Given the description of an element on the screen output the (x, y) to click on. 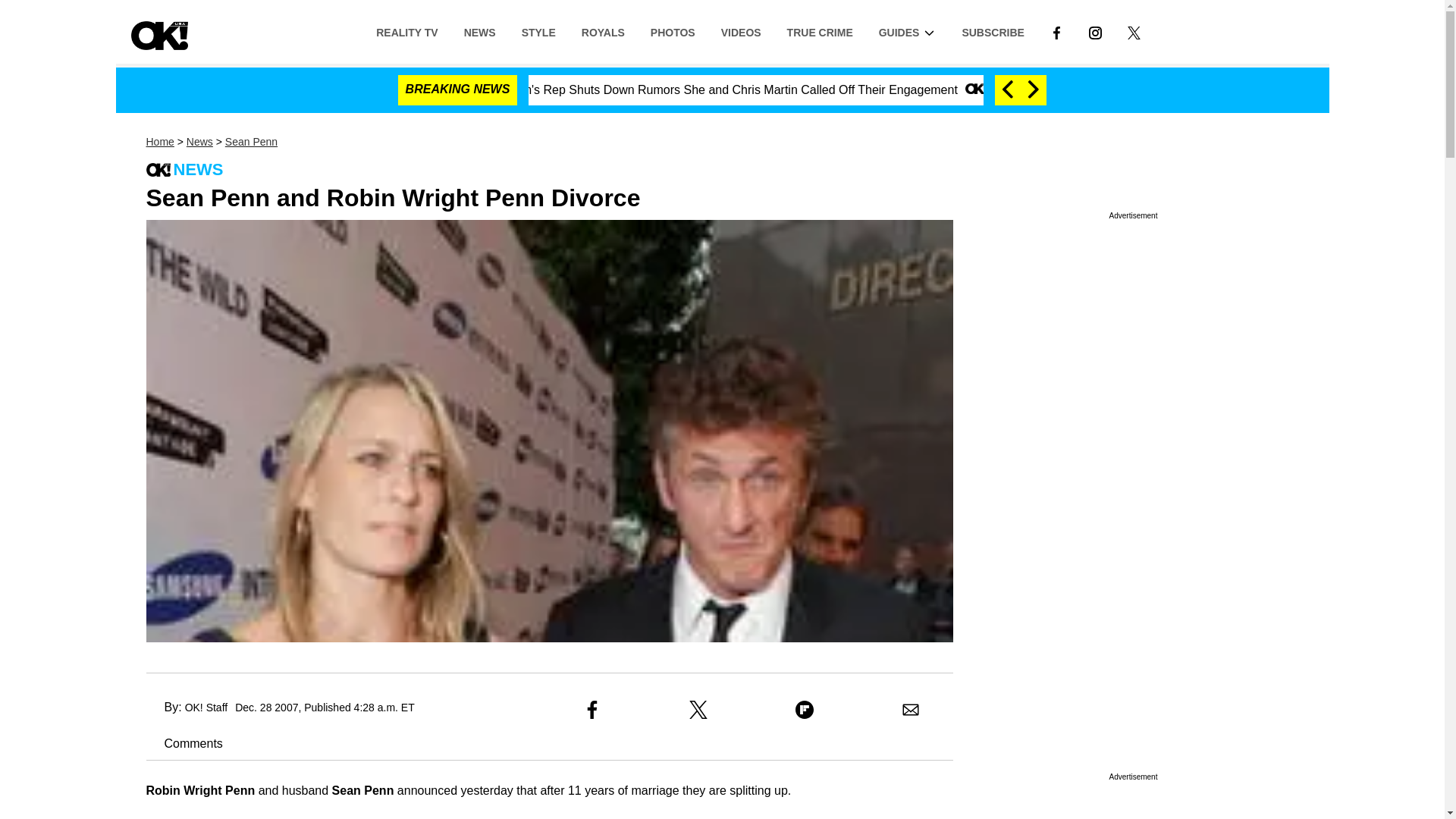
Link to Facebook (1055, 31)
LINK TO X (1134, 31)
SUBSCRIBE (992, 31)
Sean Penn (251, 141)
Share to Flipboard (803, 710)
Share to Facebook (590, 710)
VIDEOS (740, 31)
TRUE CRIME (820, 31)
Share to X (697, 710)
